Given the description of an element on the screen output the (x, y) to click on. 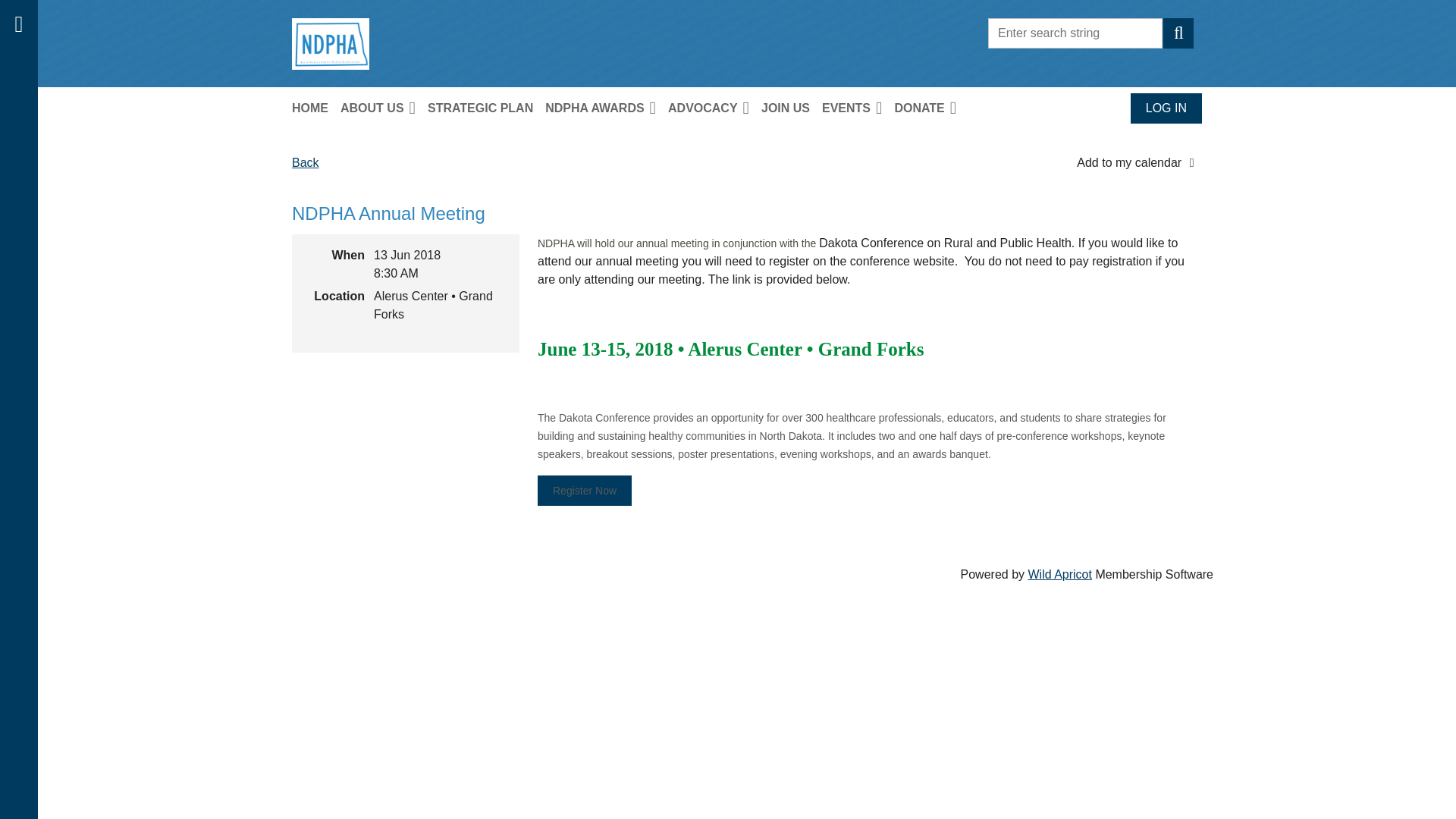
EVENTS (857, 107)
Search (1178, 33)
HOME (316, 107)
LOG IN (1166, 108)
ADVOCACY (714, 107)
JOIN US (791, 107)
NDPHA AWARDS (606, 107)
STRATEGIC PLAN (486, 107)
DONATE (930, 107)
ABOUT US (384, 107)
Back (305, 162)
